Given the description of an element on the screen output the (x, y) to click on. 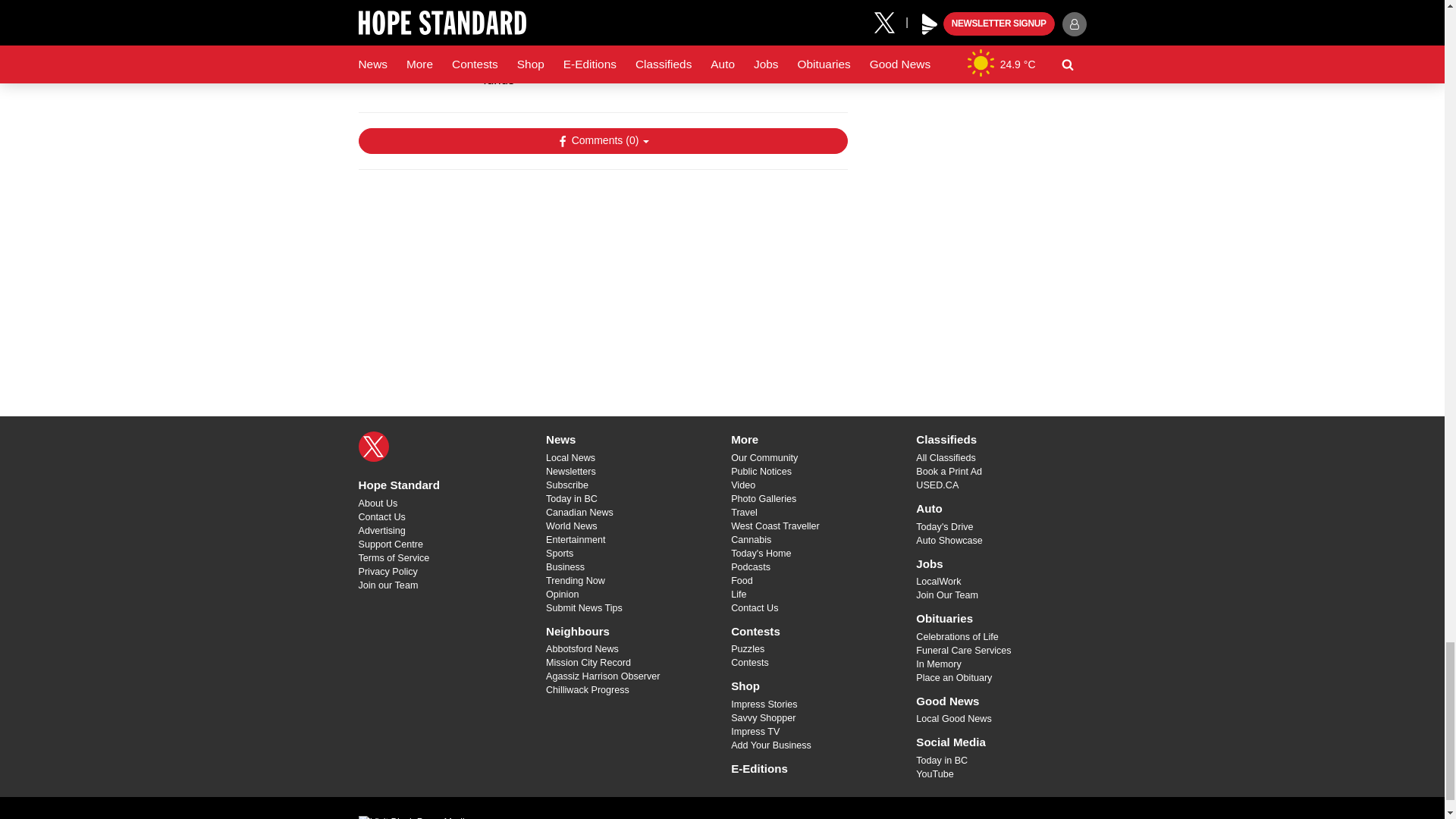
3rd party ad content (602, 279)
X (373, 446)
Show Comments (602, 140)
